Given the description of an element on the screen output the (x, y) to click on. 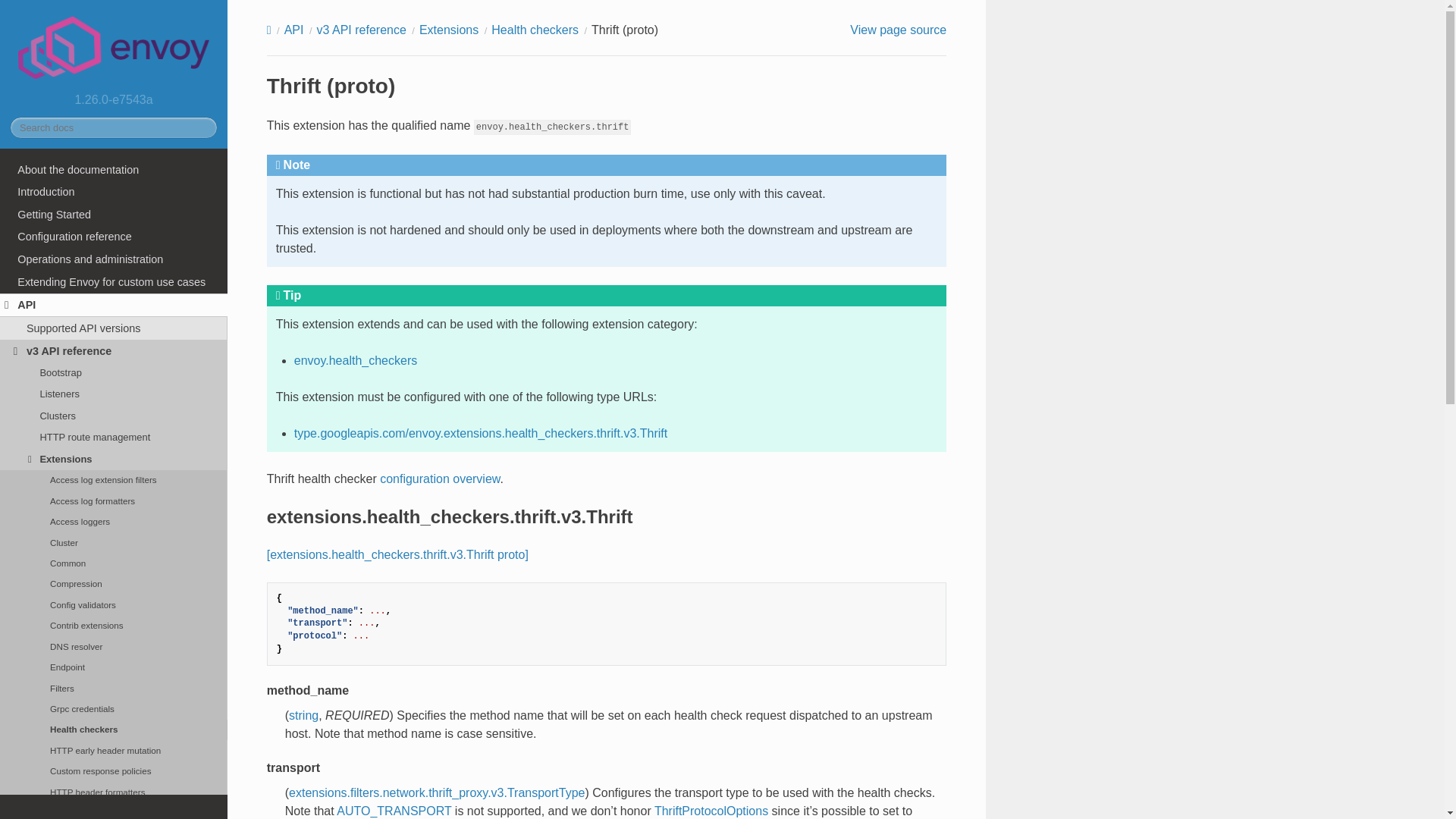
HTTP early header mutation (113, 750)
Clusters (113, 414)
HTTP route management (113, 436)
Access log formatters (113, 500)
Custom response policies (113, 770)
Cluster (113, 542)
Bootstrap (113, 372)
Supported API versions (113, 327)
Grpc credentials (113, 708)
Operations and administration (113, 259)
